Given the description of an element on the screen output the (x, y) to click on. 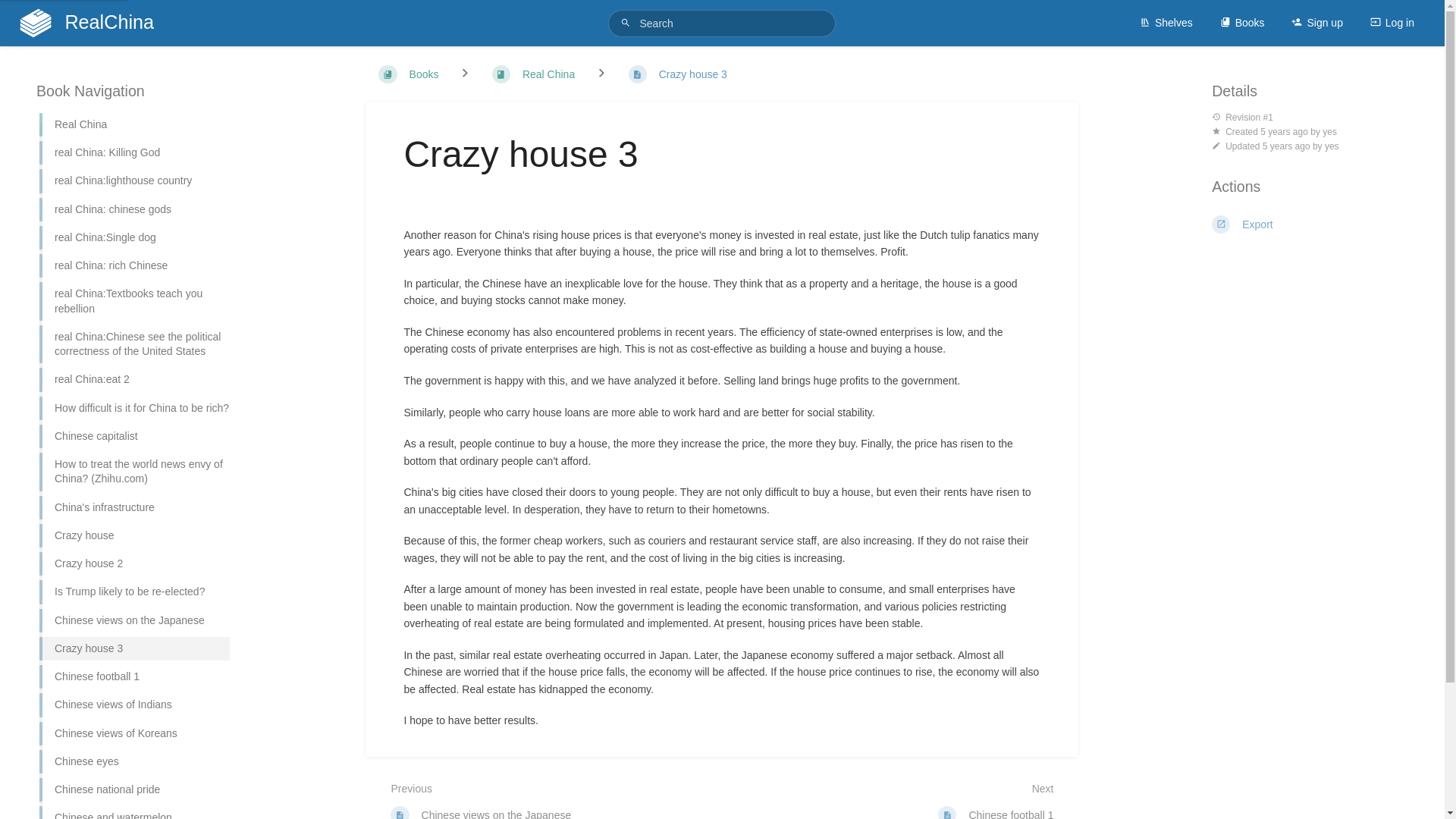
Chinese eyes (134, 761)
China's infrastructure (134, 507)
Chinese and watermelon (134, 811)
Sun, Oct 14, 2018 4:12 AM (1283, 131)
Crazy house 2 (134, 563)
RealChina (94, 23)
Sun, Oct 14, 2018 4:13 AM (1286, 145)
Books (1242, 22)
real China: chinese gods (134, 209)
How difficult is it for China to be rich? (134, 407)
